Given the description of an element on the screen output the (x, y) to click on. 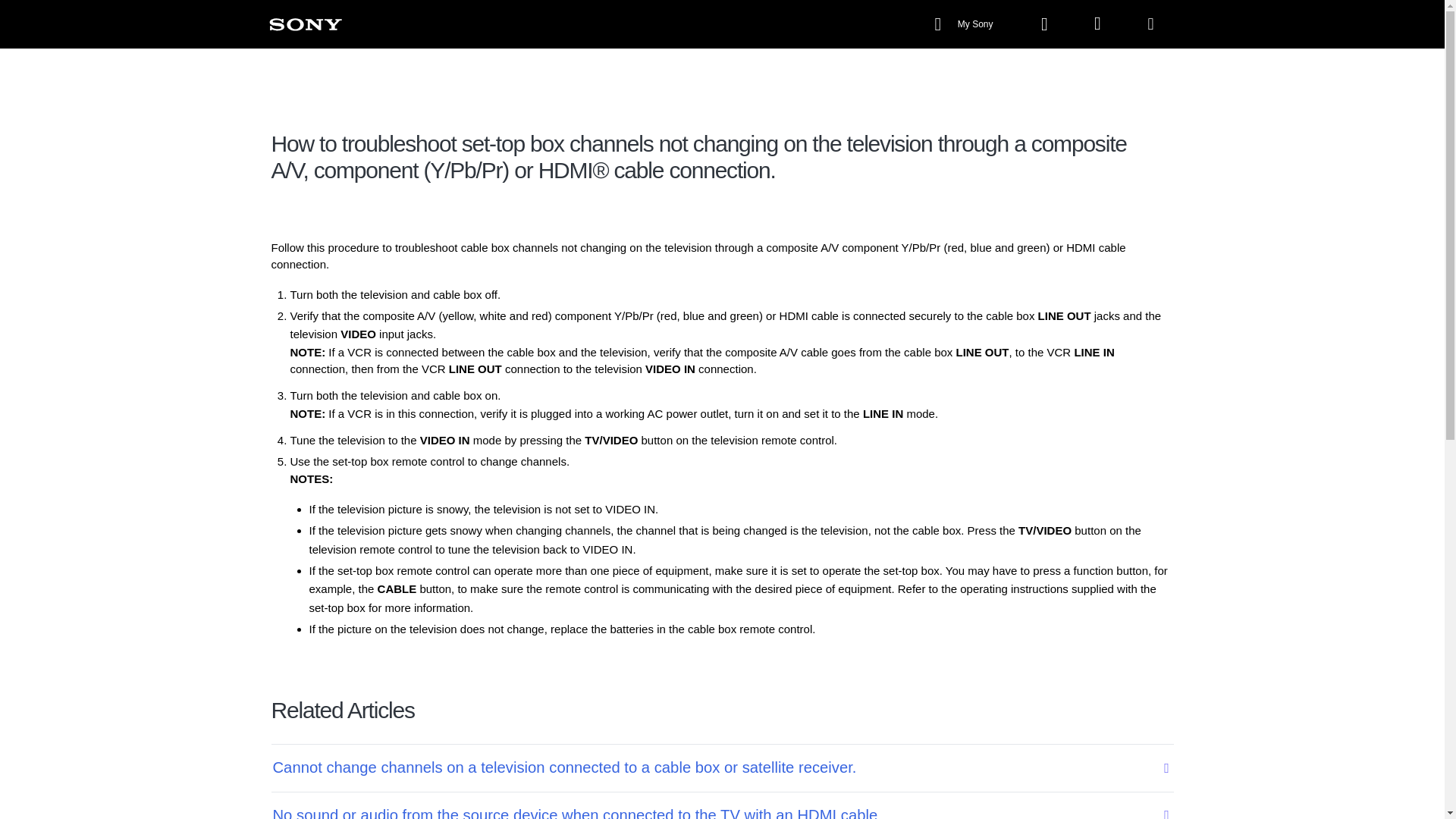
My Sony (964, 24)
